Given the description of an element on the screen output the (x, y) to click on. 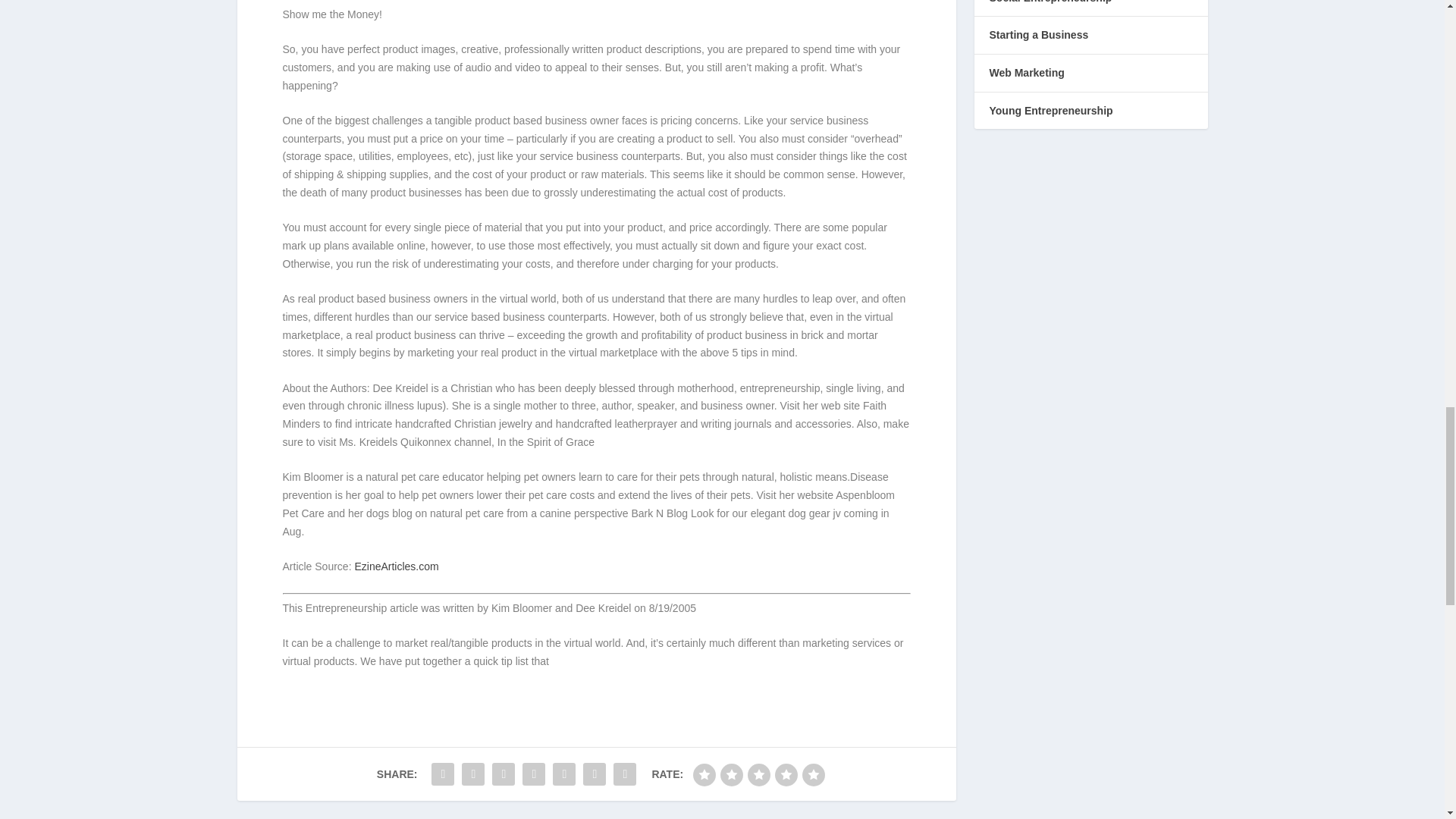
poor (731, 774)
gorgeous (813, 774)
good (785, 774)
EzineArticles.com (395, 566)
regular (759, 774)
bad (704, 774)
